Given the description of an element on the screen output the (x, y) to click on. 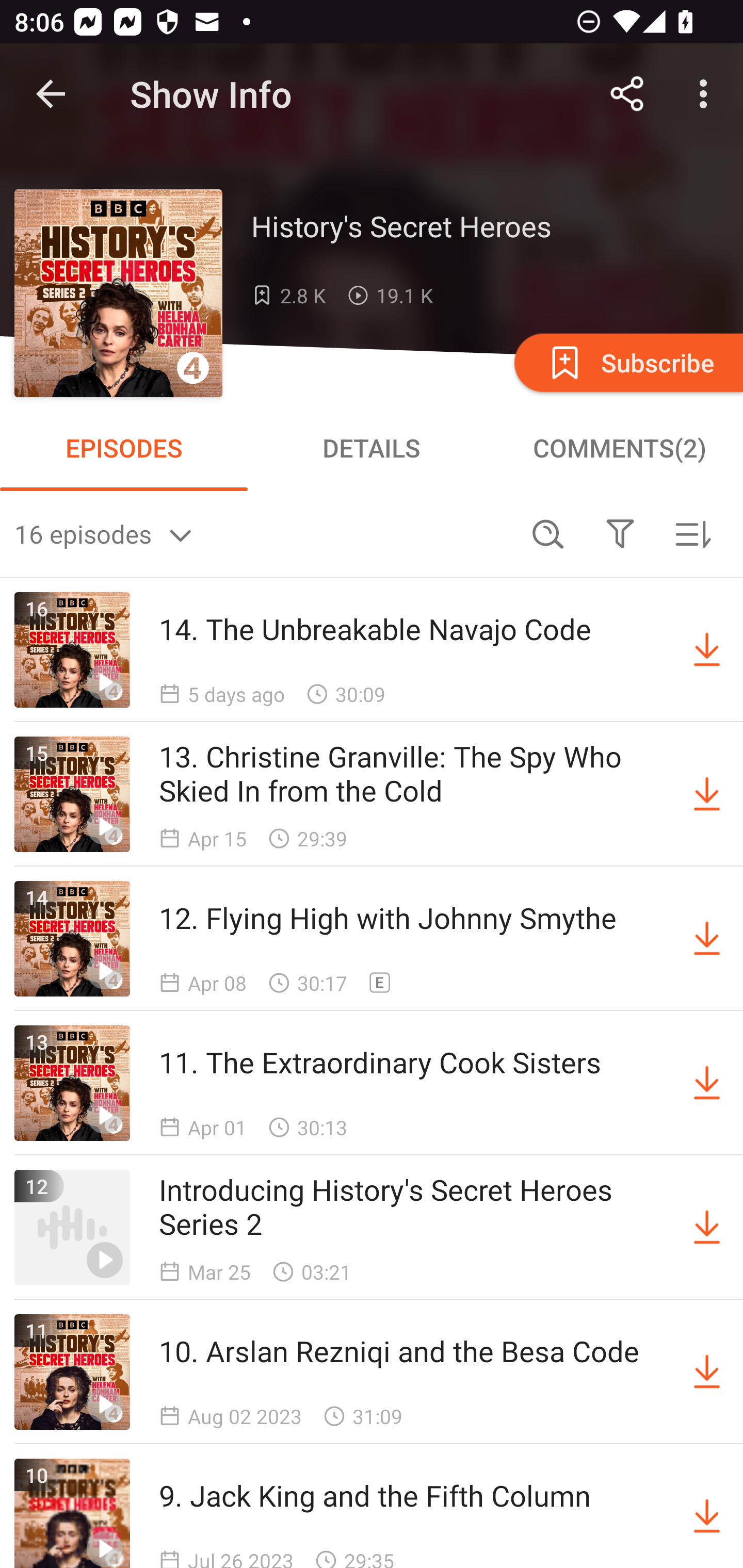
Navigate up (50, 93)
Share (626, 93)
More options (706, 93)
Subscribe (627, 361)
EPISODES (123, 447)
DETAILS (371, 447)
COMMENTS(2) (619, 447)
16 episodes  (262, 533)
 Search (547, 533)
 (619, 533)
 Sorted by newest first (692, 533)
Download (706, 649)
Download (706, 793)
Download (706, 939)
Download (706, 1083)
Download (706, 1227)
Download (706, 1371)
Download (706, 1513)
